Given the description of an element on the screen output the (x, y) to click on. 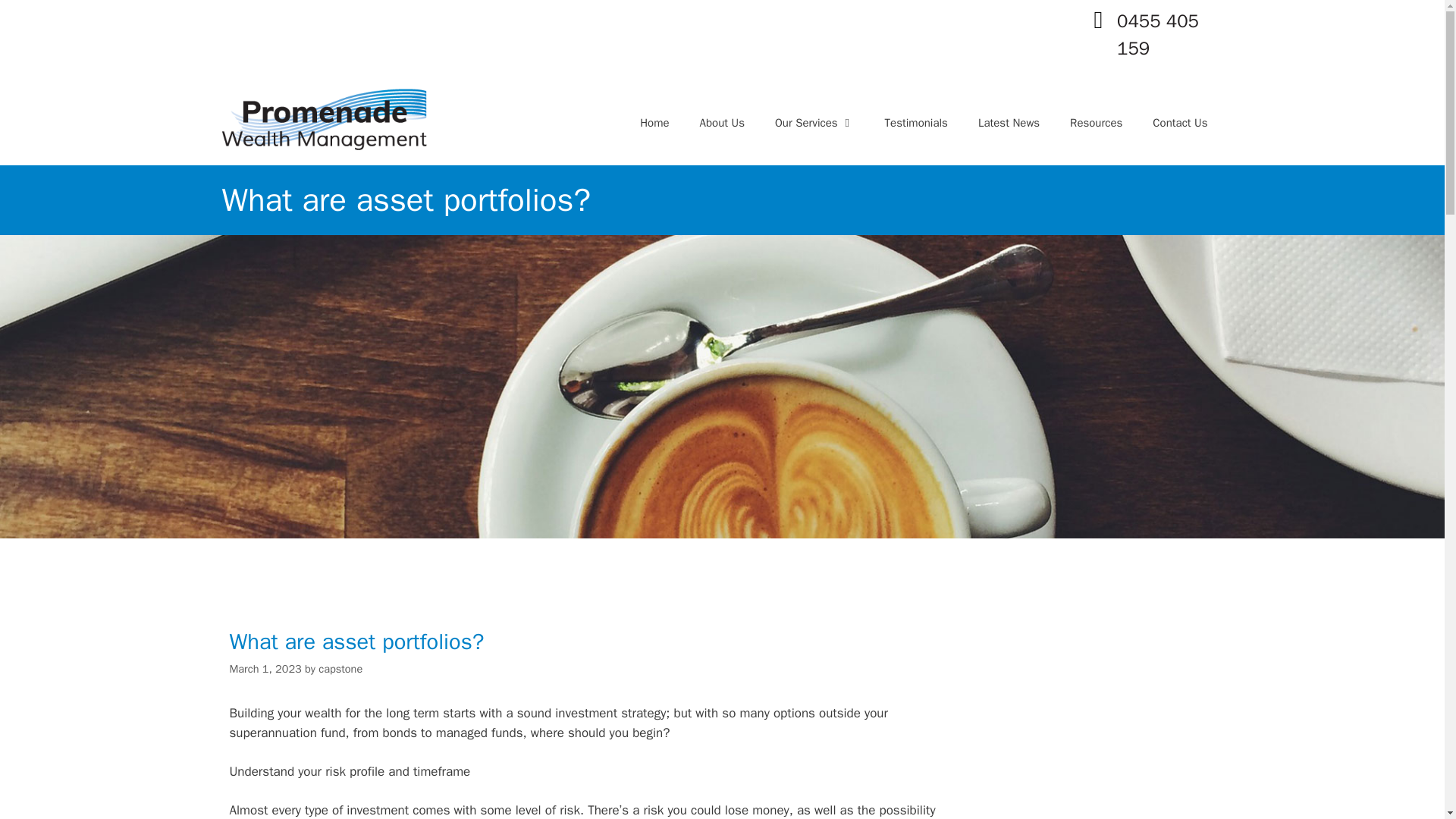
Our Services (814, 122)
Testimonials (915, 122)
Home (654, 122)
Contact Us (1180, 122)
Latest News (1008, 122)
About Us (722, 122)
View all posts by capstone (340, 668)
capstone (340, 668)
0455 405 159 (1157, 34)
Resources (1095, 122)
